Given the description of an element on the screen output the (x, y) to click on. 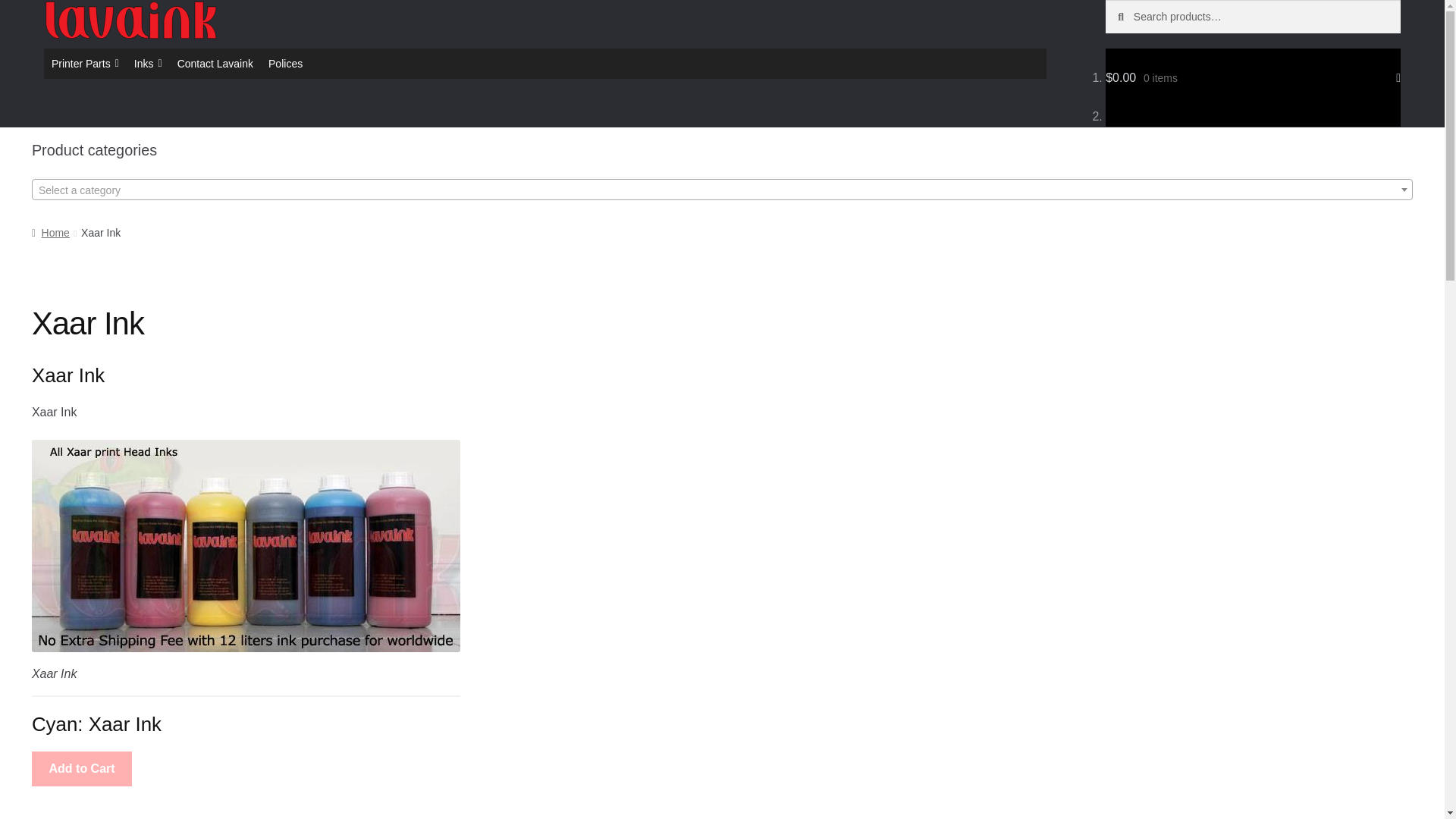
View your shopping cart (1252, 77)
Add to Cart (82, 768)
